Given the description of an element on the screen output the (x, y) to click on. 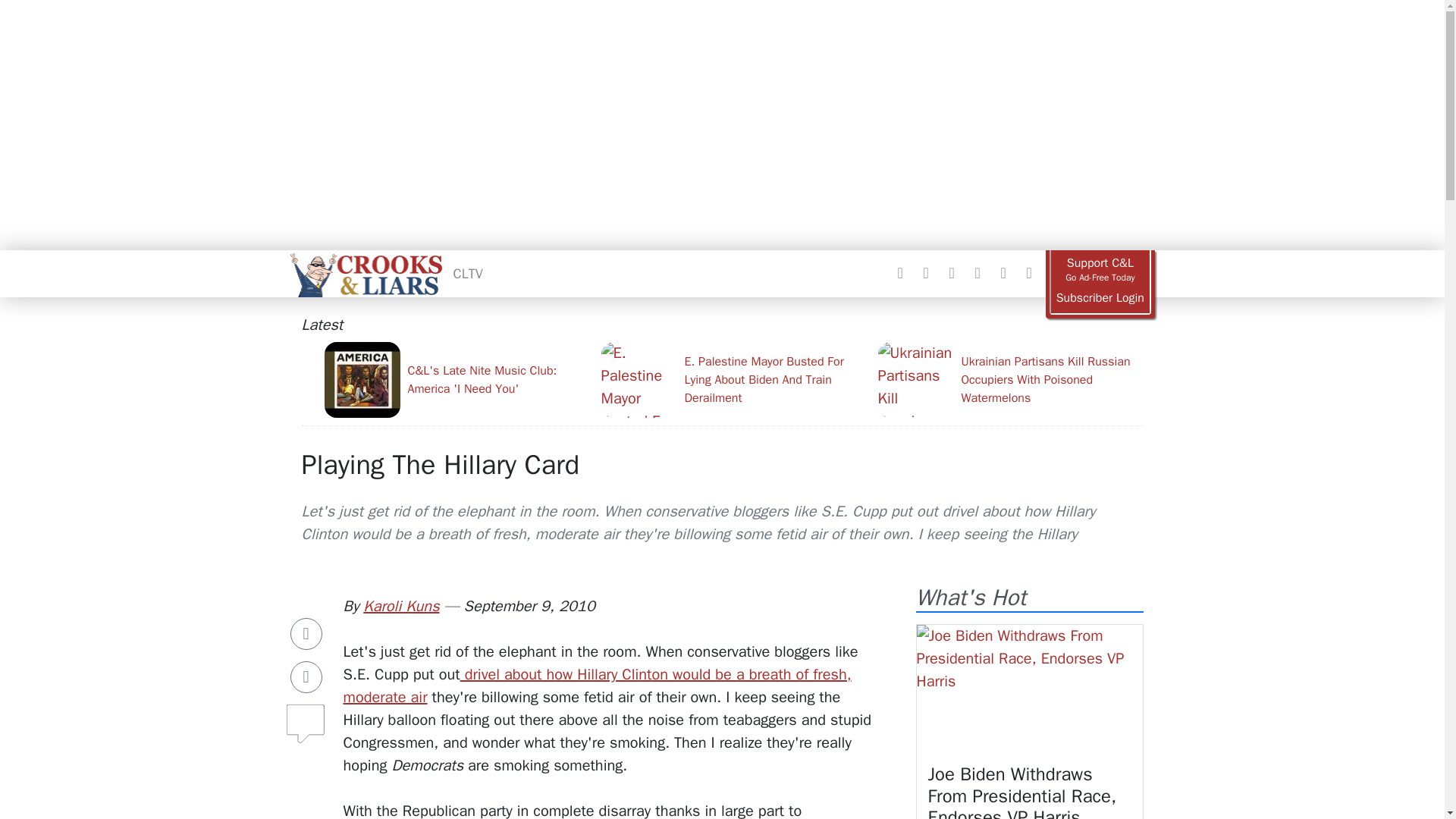
Karoli Kuns (400, 606)
Go ad free today! (1099, 270)
Subscriber Login (1099, 298)
CLTV (467, 273)
Login to your ad free account (1099, 298)
Share on Twitter (306, 676)
Share on Facebook (306, 634)
Karoli Kuns (400, 606)
Comments (306, 717)
Playing The Hillary Card (440, 464)
